Given the description of an element on the screen output the (x, y) to click on. 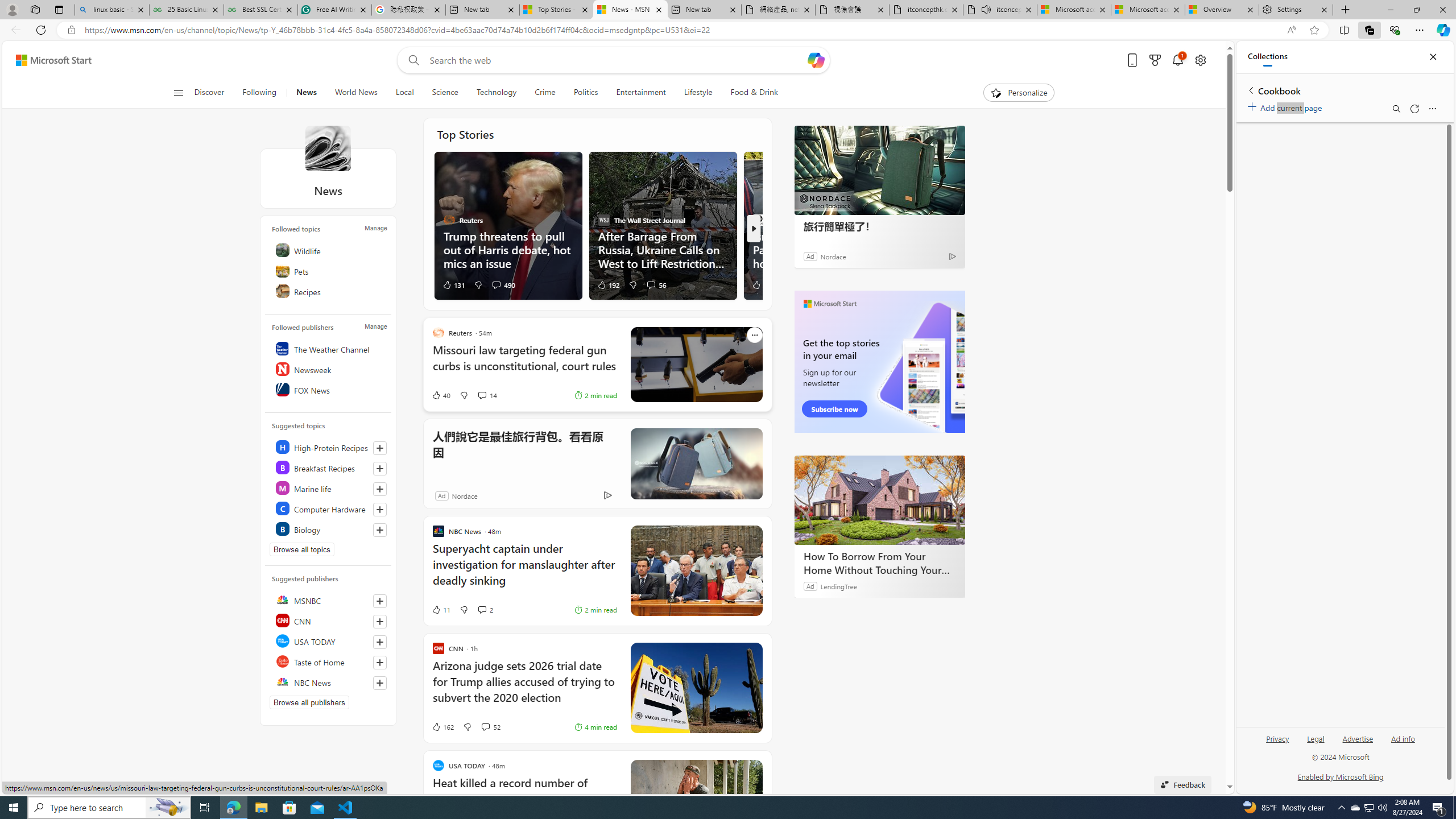
Subscribe now (834, 408)
